Given the description of an element on the screen output the (x, y) to click on. 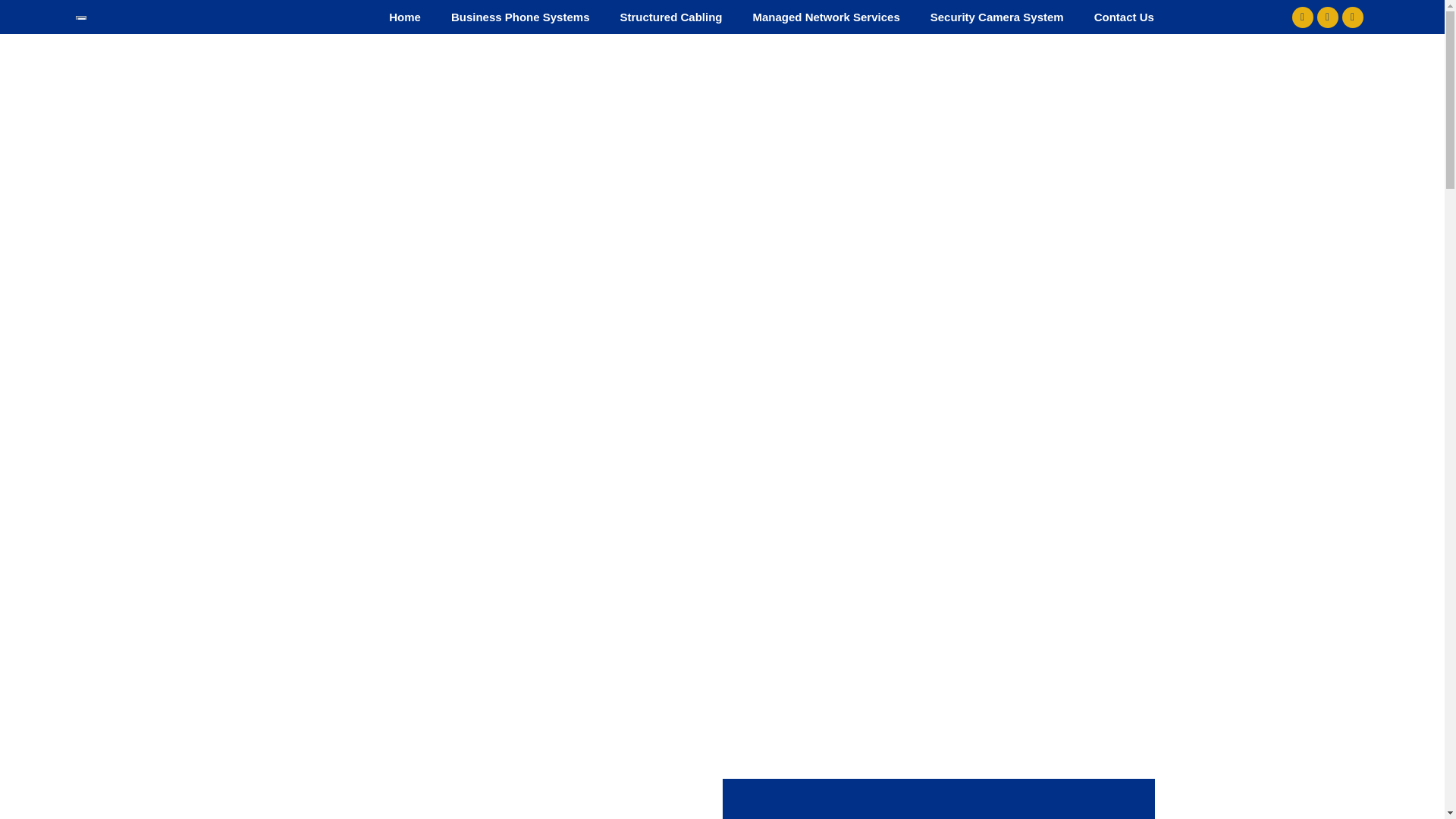
Structured Cabling (670, 17)
Security Camera System (996, 17)
Managed Network Services (825, 17)
Business Phone Systems (520, 17)
Home (404, 17)
Contact Us (1123, 17)
